Given the description of an element on the screen output the (x, y) to click on. 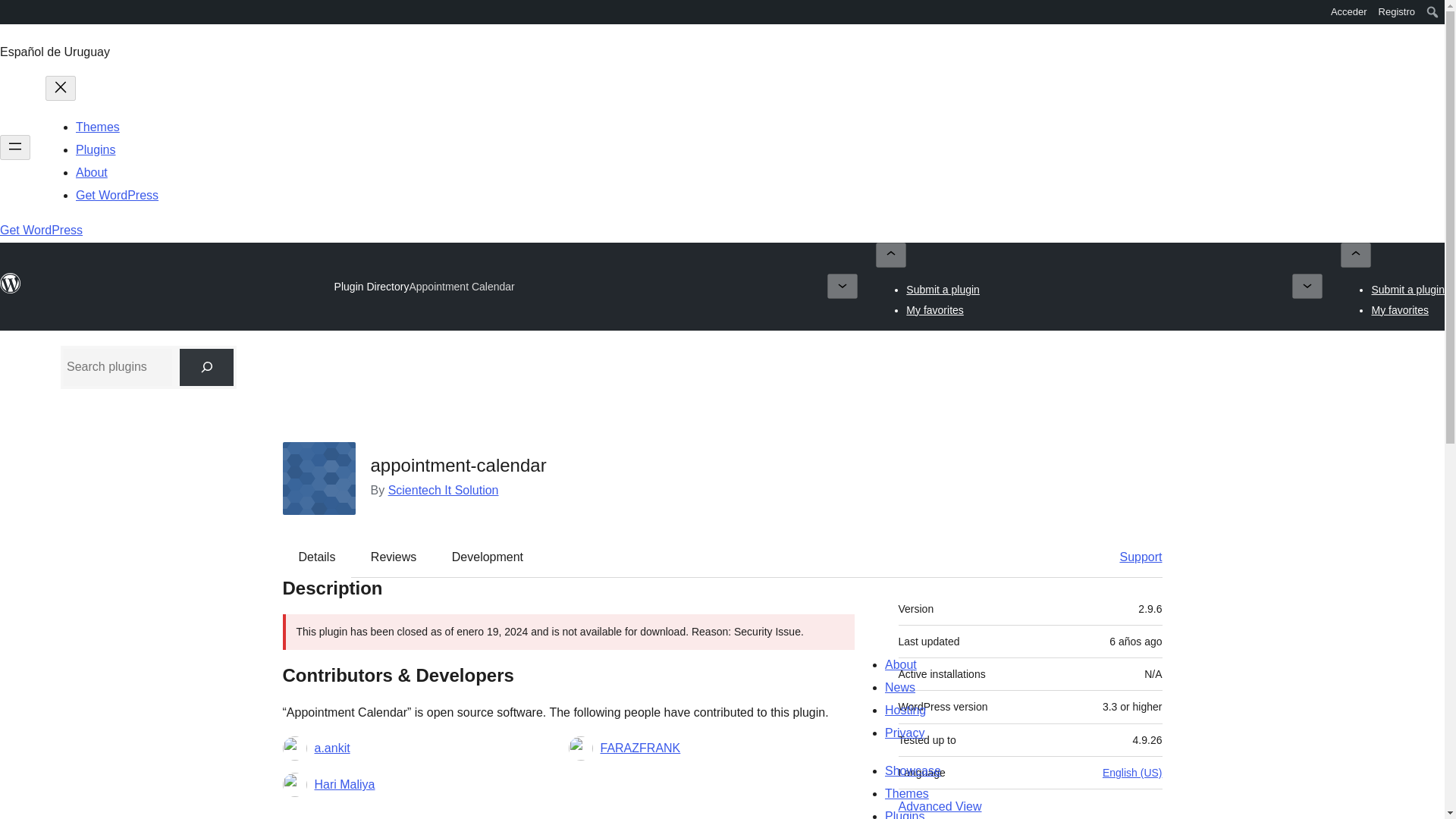
Reviews (392, 557)
My favorites (933, 309)
Buscar (16, 13)
Appointment Calendar (461, 286)
Scientech It Solution (443, 490)
Acceder (1348, 12)
Details (316, 557)
Support (1132, 557)
Submit a plugin (942, 289)
Plugin Directory (371, 286)
